Given the description of an element on the screen output the (x, y) to click on. 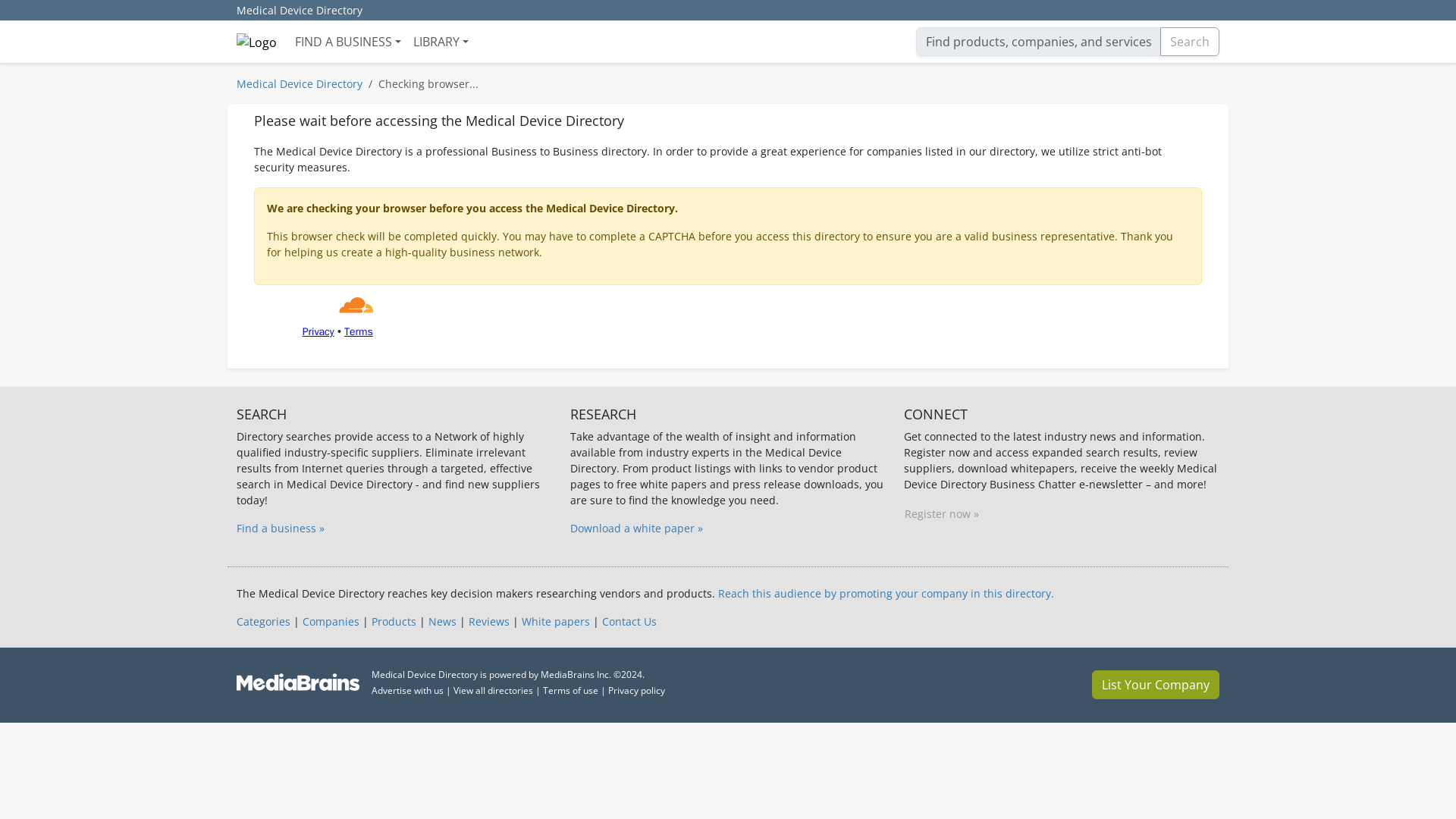
Reviews (488, 621)
Products (393, 621)
Medical Device Directory (299, 10)
White papers (555, 621)
Medical Device Directory (298, 83)
List Your Company (1156, 684)
Categories (262, 621)
FIND A BUSINESS (347, 41)
LIBRARY (440, 41)
